Given the description of an element on the screen output the (x, y) to click on. 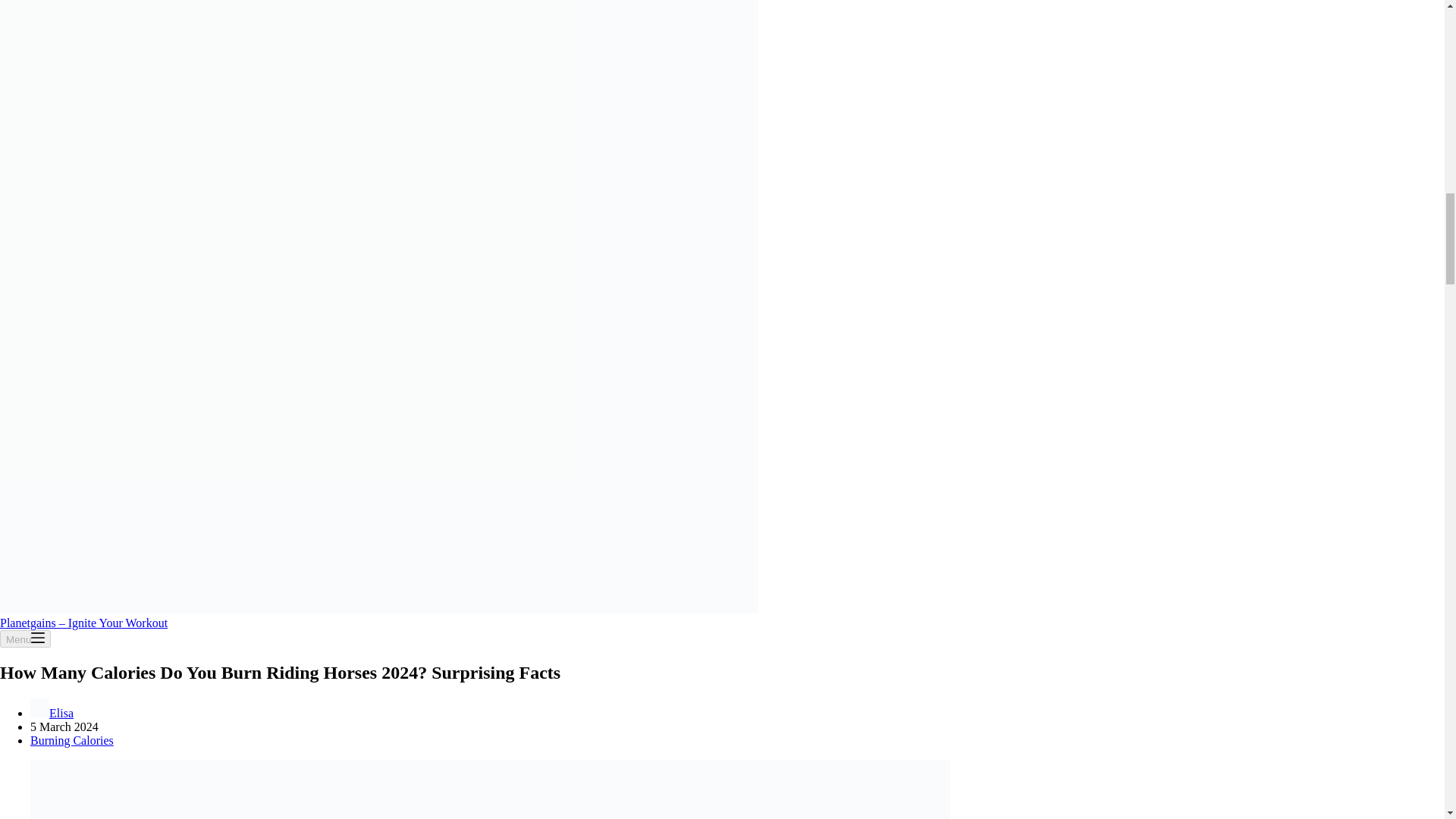
Posts by Elisa (61, 712)
